Given the description of an element on the screen output the (x, y) to click on. 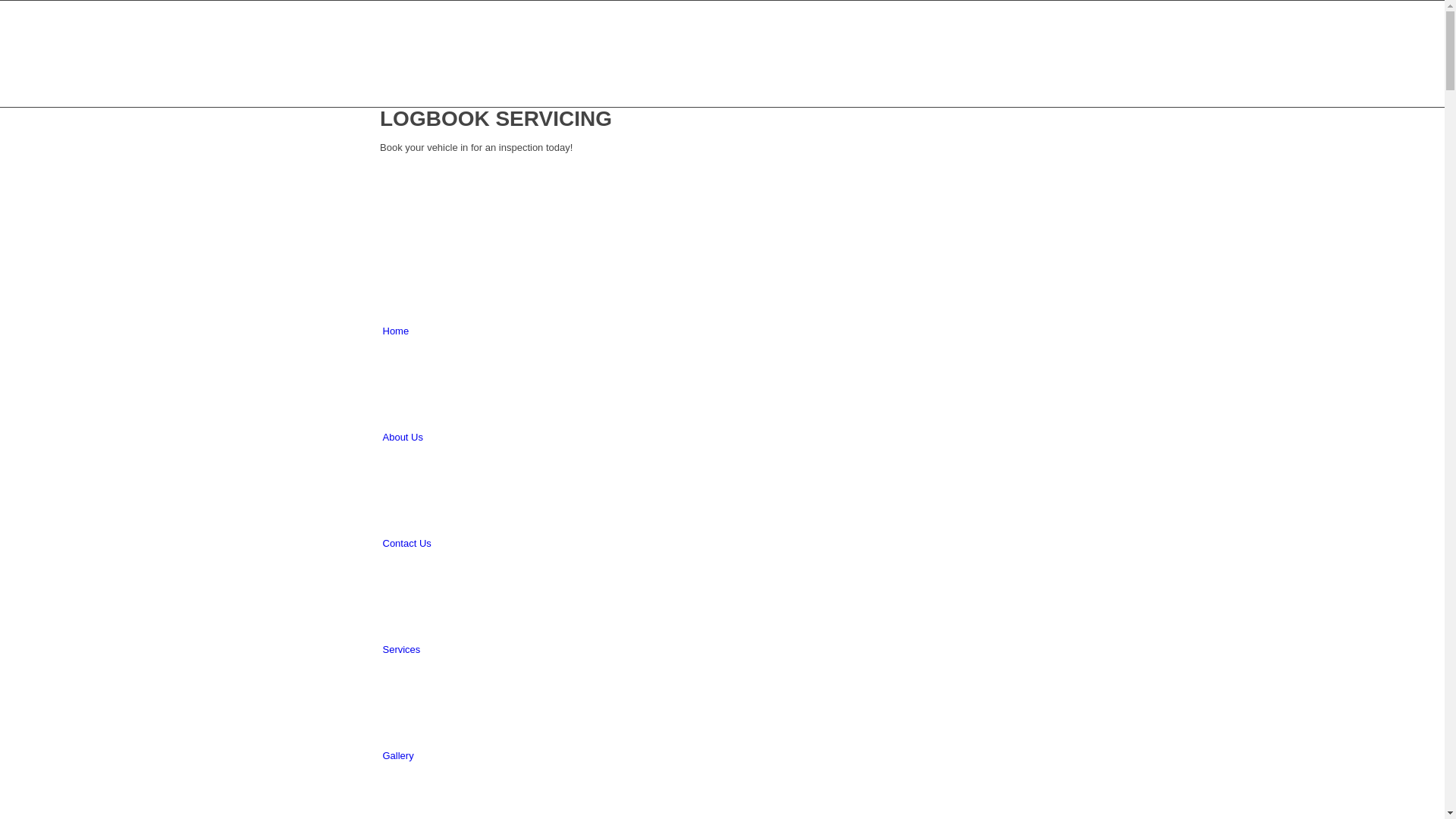
About Us Element type: text (402, 436)
Home Element type: text (395, 330)
Services Element type: text (401, 649)
Gallery Element type: text (397, 755)
Contact Us Element type: text (406, 543)
